Given the description of an element on the screen output the (x, y) to click on. 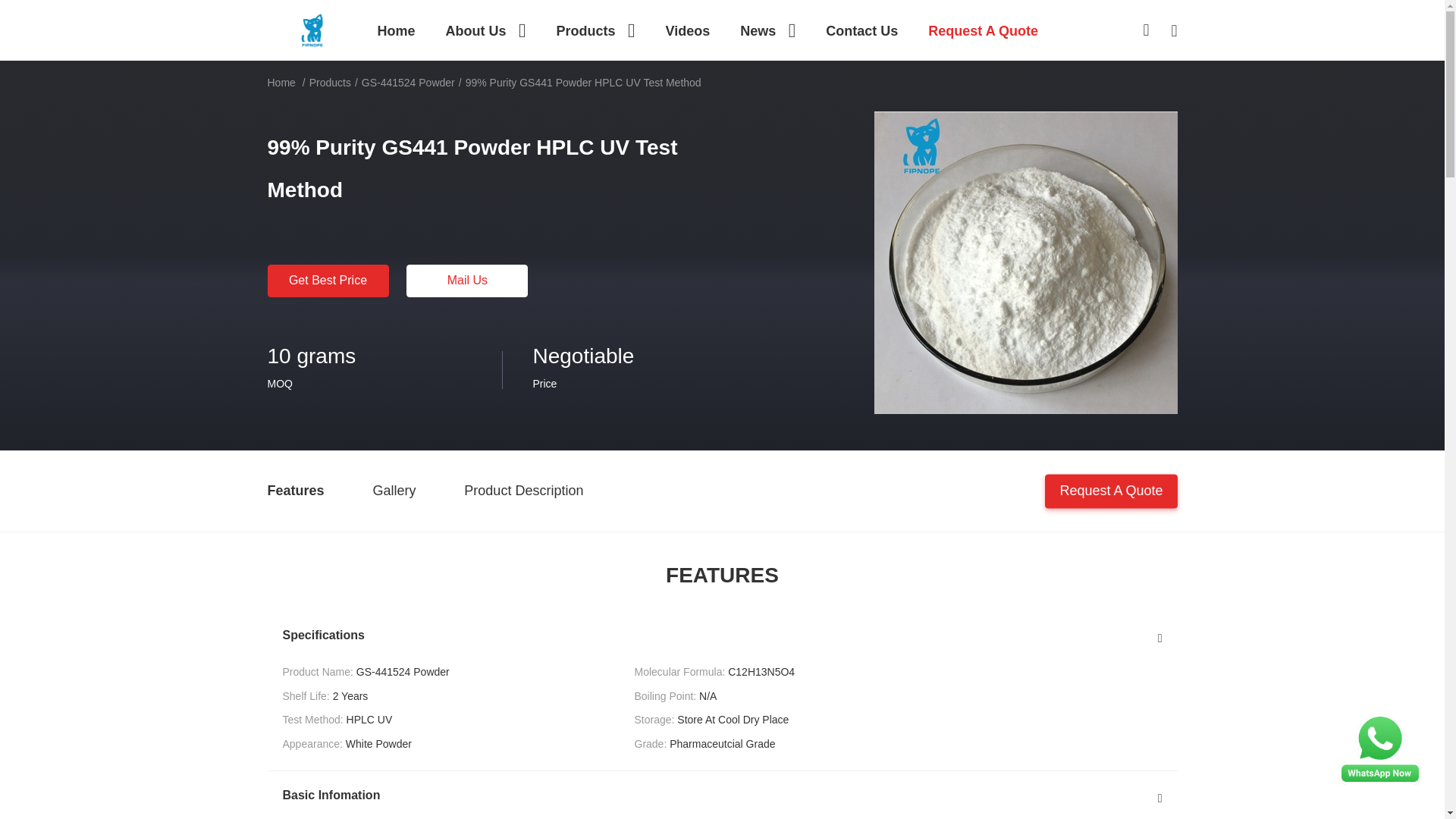
Products (595, 30)
whatsapp Now (1380, 748)
Products (595, 30)
About Us (485, 30)
About Us (485, 30)
Contact Us (861, 30)
FIPNOPE (313, 28)
Request A Quote (983, 30)
News (766, 30)
